Given the description of an element on the screen output the (x, y) to click on. 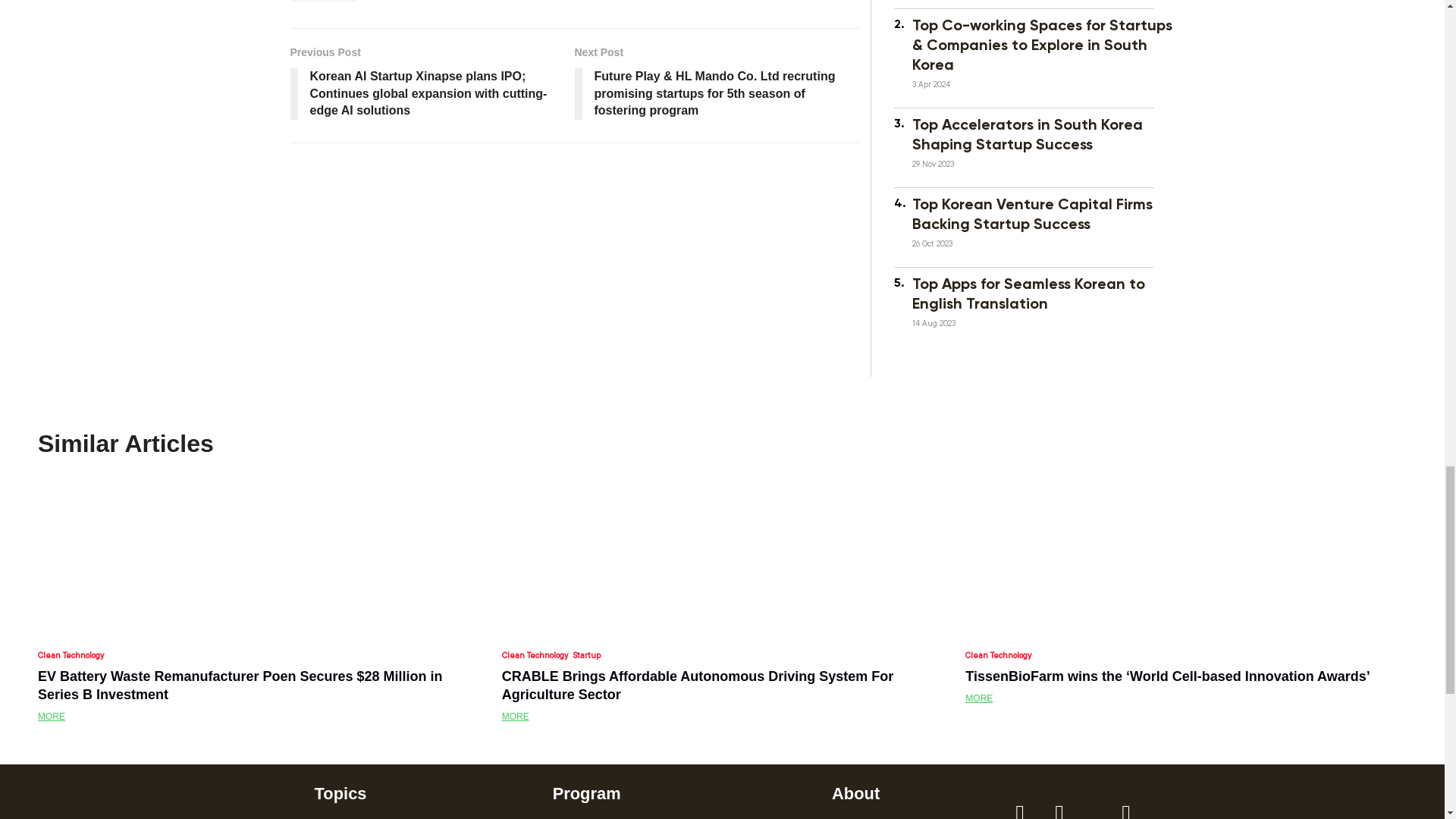
linkedin (1126, 807)
facebook (1019, 807)
twitter (1092, 811)
instagram (1059, 807)
